Given the description of an element on the screen output the (x, y) to click on. 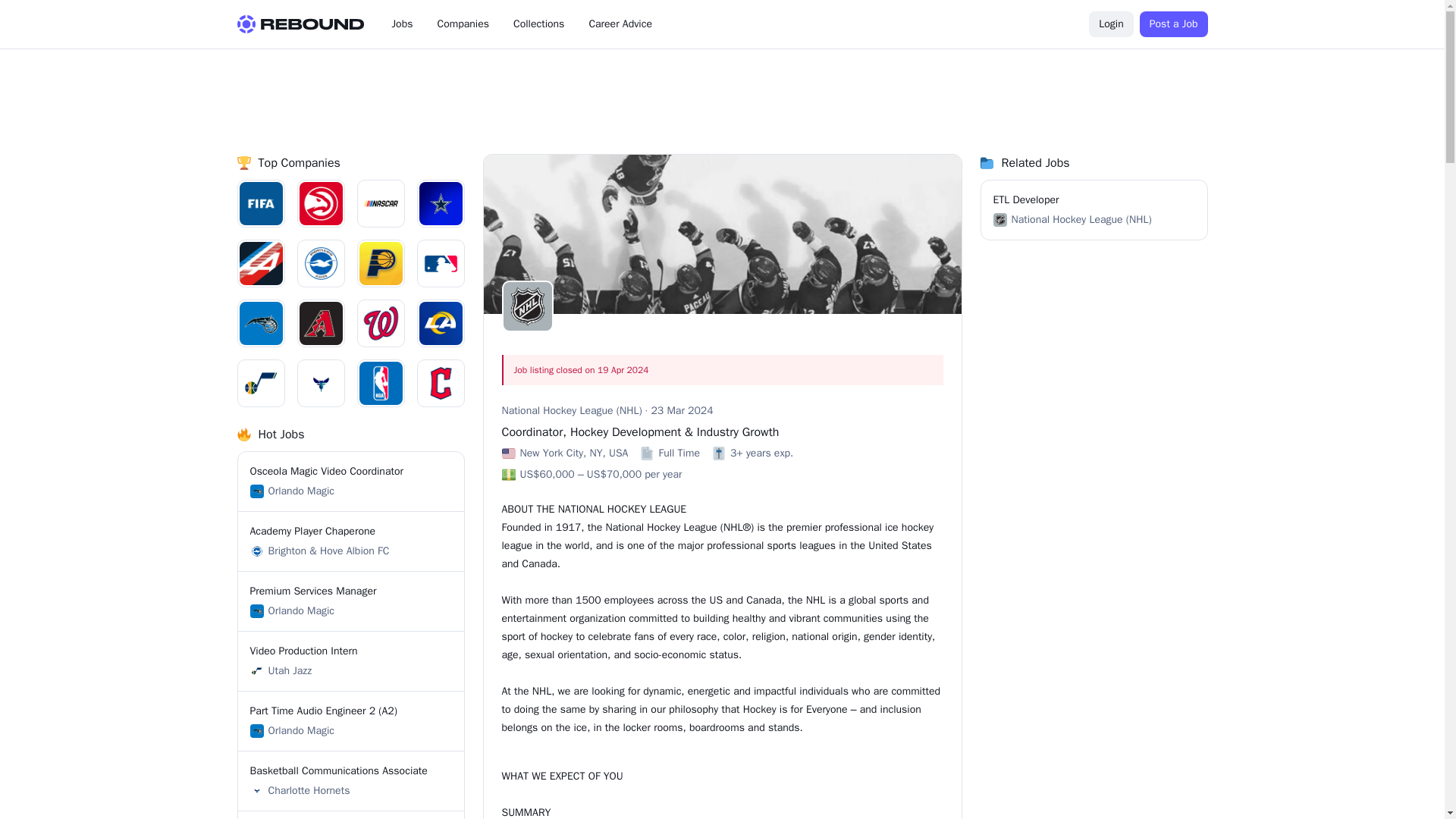
Jobs (351, 814)
Companies (402, 23)
Post a Job (463, 23)
Login (351, 481)
ReboundJobs.com (351, 660)
Career Advice (351, 600)
Collections (1174, 23)
